Given the description of an element on the screen output the (x, y) to click on. 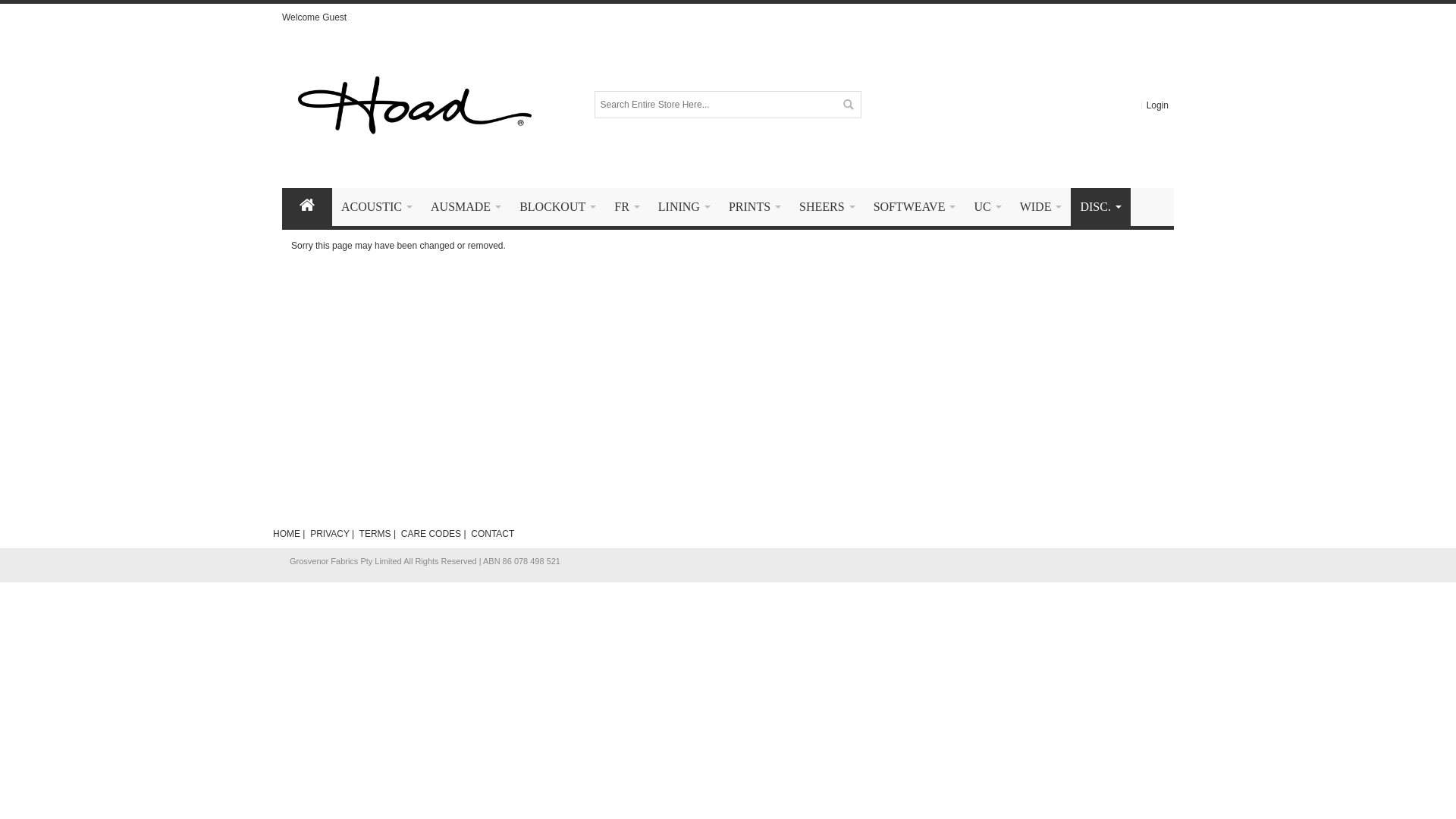
CONTACT Element type: text (492, 533)
SOFTWEAVE   Element type: text (914, 206)
LINING   Element type: text (684, 206)
AUSMADE   Element type: text (465, 206)
PRIVACY Element type: text (329, 533)
DISC.   Element type: text (1099, 206)
Login Element type: text (1157, 105)
PRINTS   Element type: text (754, 206)
FR   Element type: text (627, 206)
WIDE   Element type: text (1040, 206)
CARE CODES Element type: text (431, 533)
HOME Element type: text (286, 533)
UC   Element type: text (987, 206)
ACOUSTIC   Element type: text (376, 206)
BLOCKOUT   Element type: text (557, 206)
TERMS Element type: text (375, 533)
SHEERS   Element type: text (827, 206)
Search Element type: hover (847, 104)
